Given the description of an element on the screen output the (x, y) to click on. 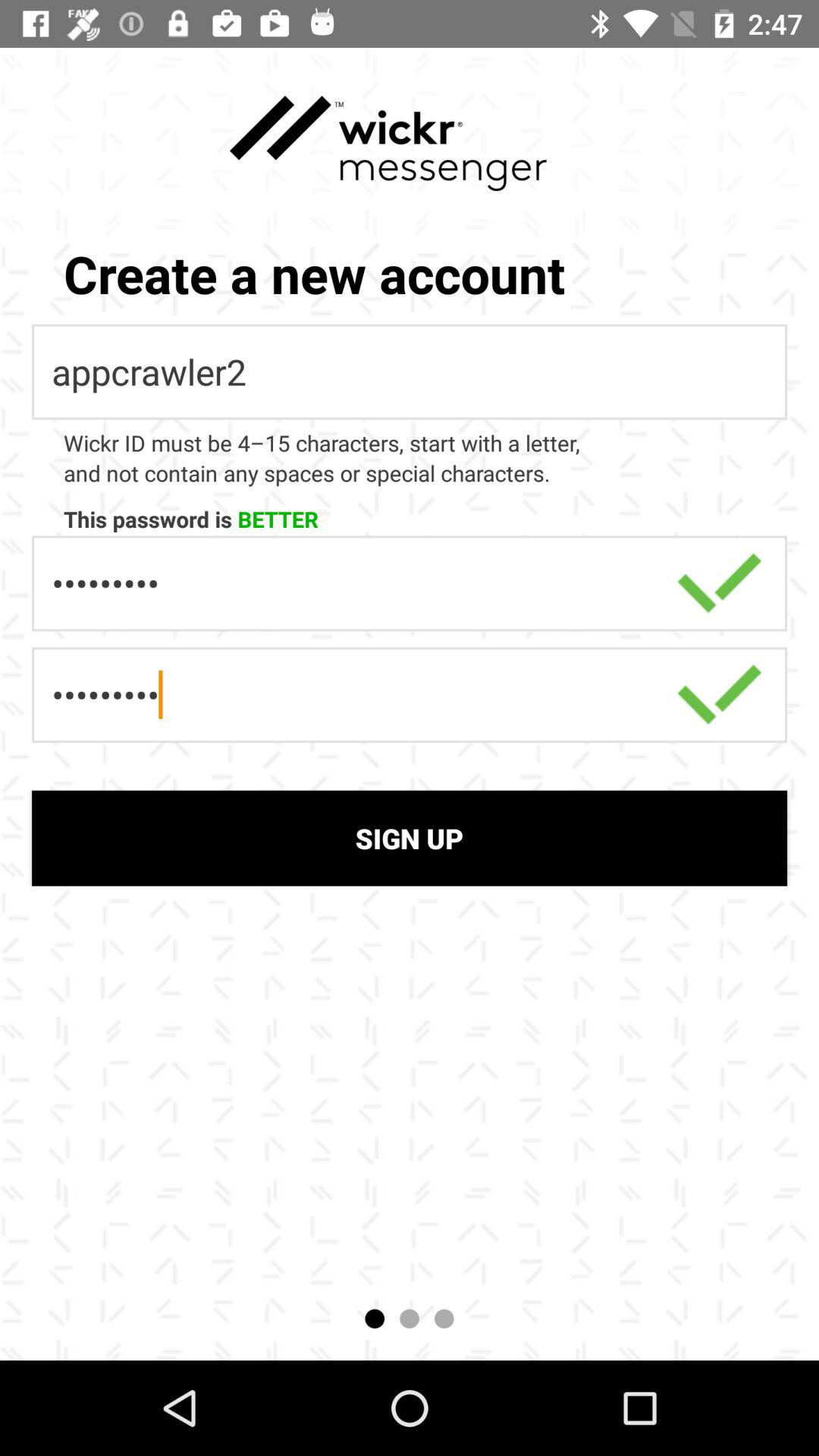
turn on the appcrawler2 (409, 371)
